Given the description of an element on the screen output the (x, y) to click on. 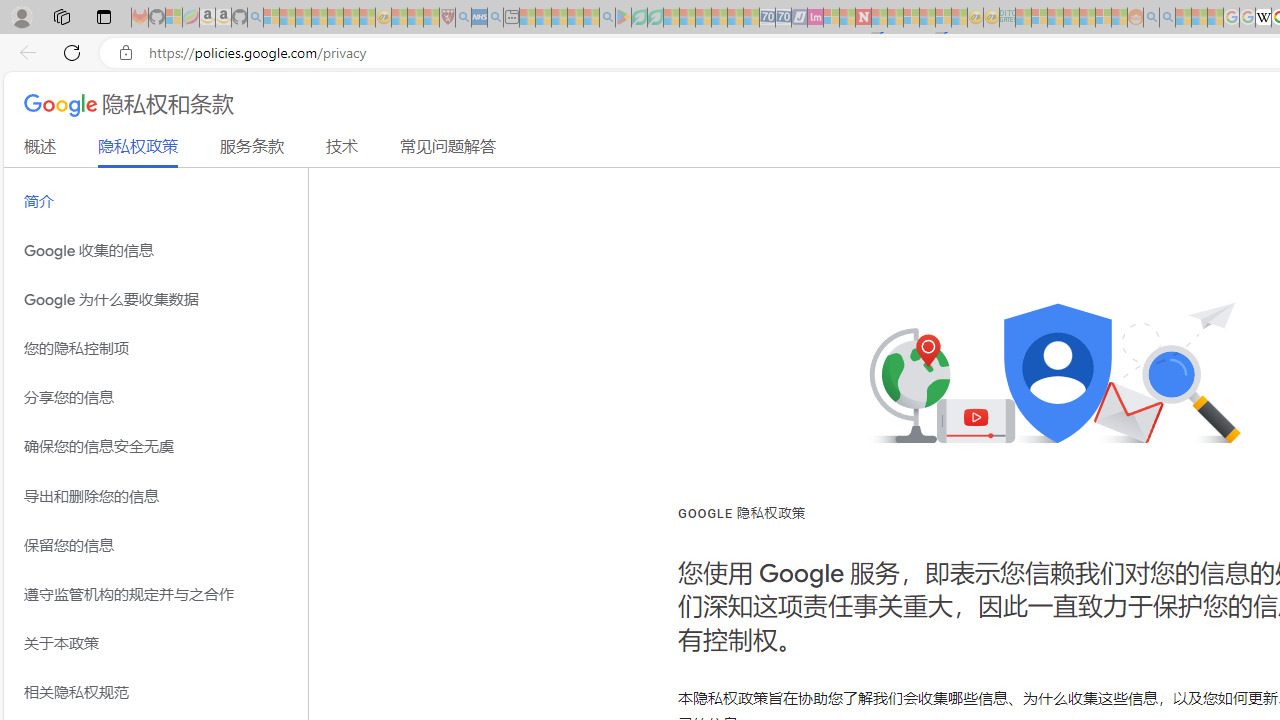
utah sues federal government - Search - Sleeping (495, 17)
